Given the description of an element on the screen output the (x, y) to click on. 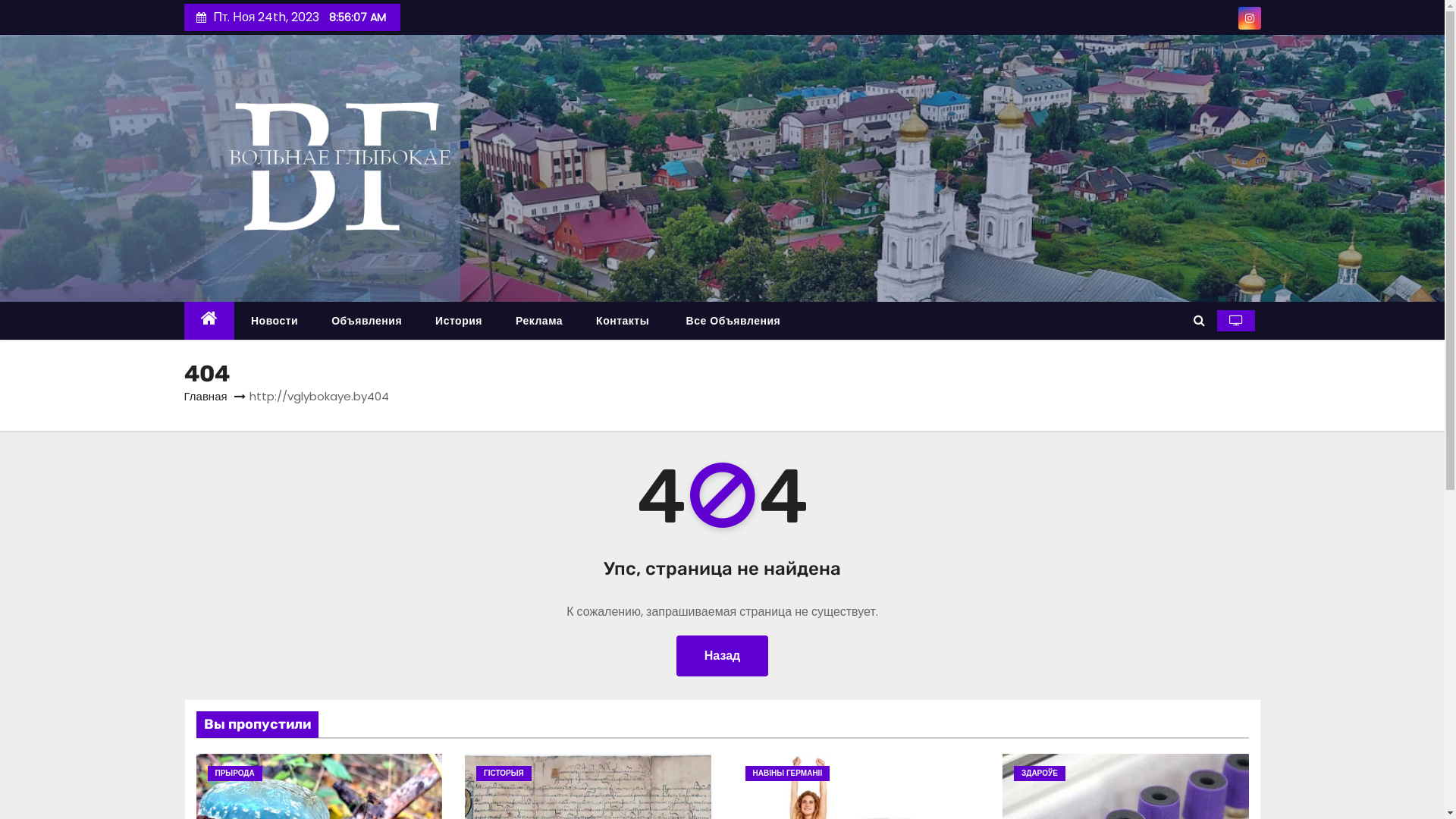
Home Element type: hover (208, 320)
